Given the description of an element on the screen output the (x, y) to click on. 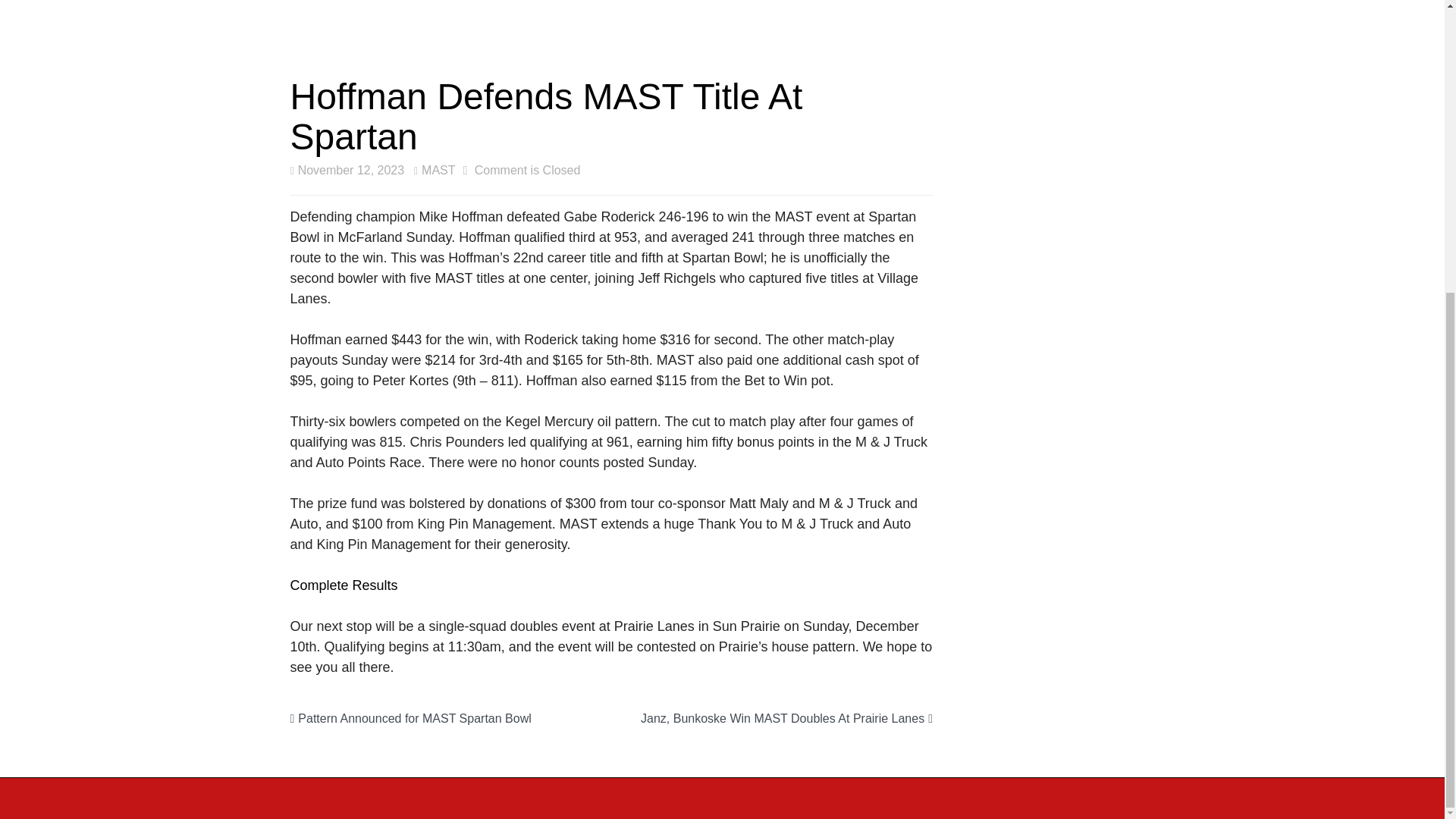
November 12, 2023 (346, 169)
Janz, Bunkoske Win MAST Doubles At Prairie Lanes (786, 717)
MAST (434, 169)
Pattern Announced for MAST Spartan Bowl (410, 717)
Complete Results (343, 585)
